Given the description of an element on the screen output the (x, y) to click on. 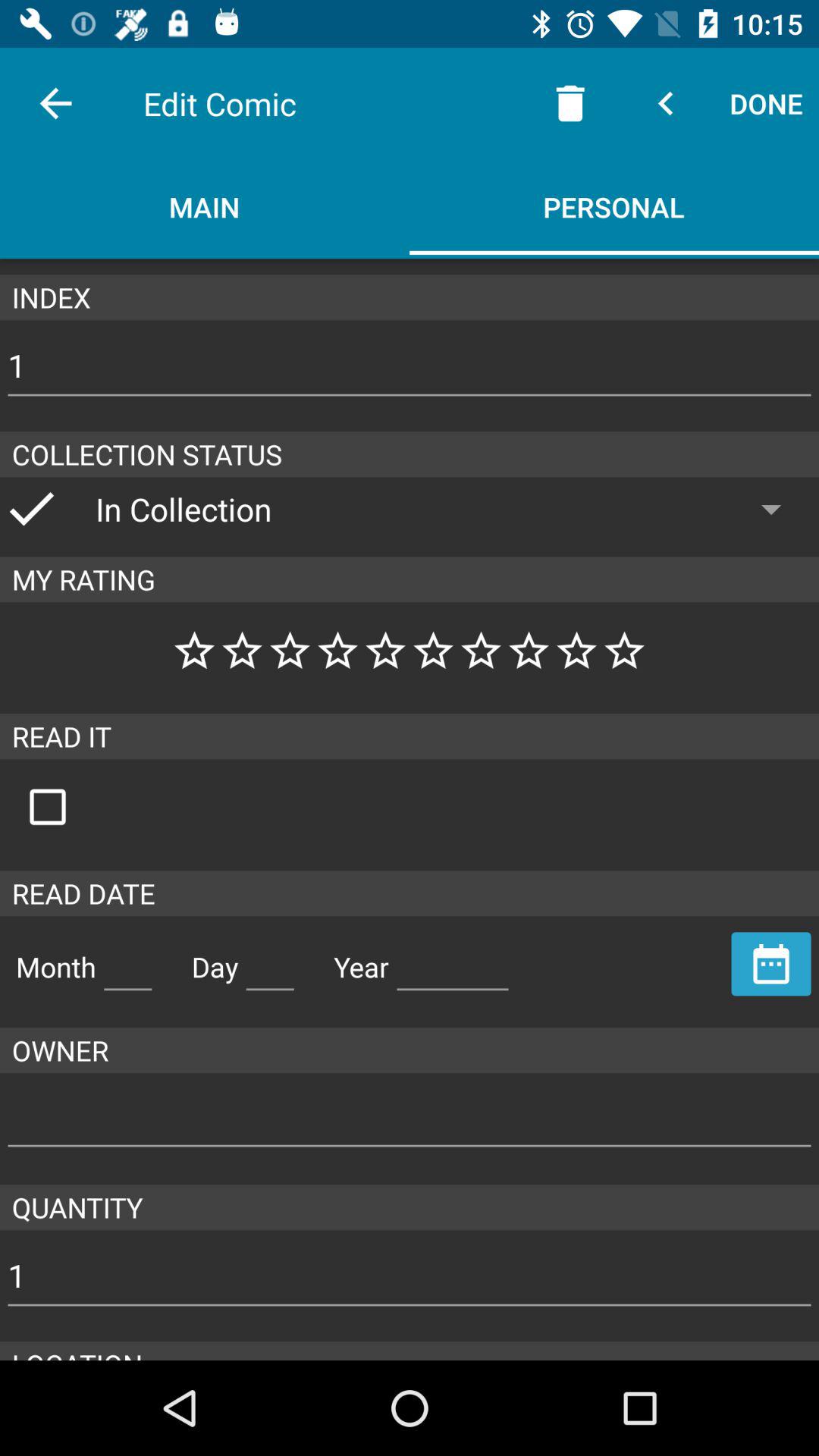
enter month space (127, 961)
